Given the description of an element on the screen output the (x, y) to click on. 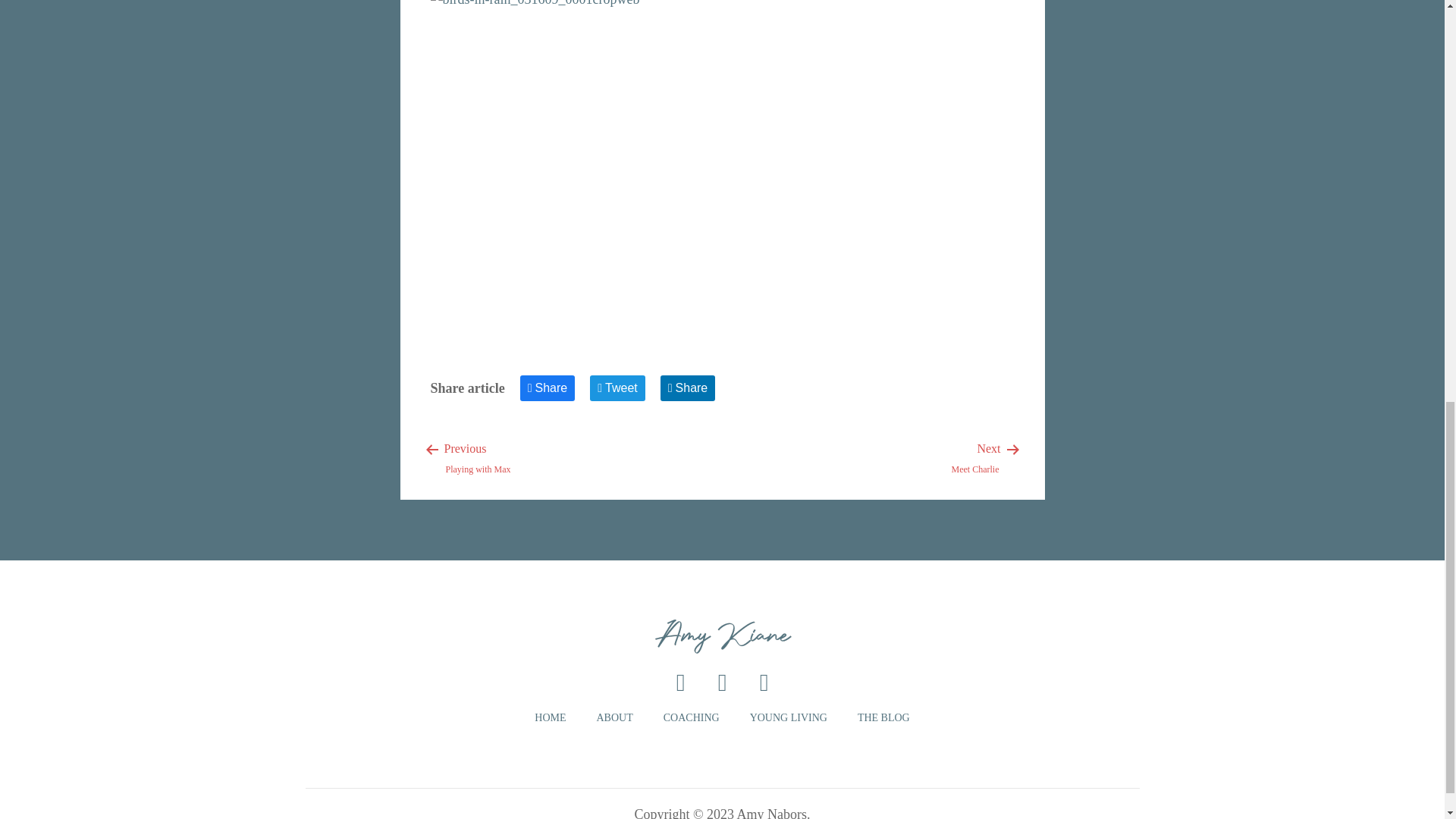
THE BLOG (975, 457)
Tweet (883, 718)
COACHING (478, 457)
HOME (617, 388)
ABOUT (691, 718)
YOUNG LIVING (550, 718)
Share (613, 718)
Share (788, 718)
